Given the description of an element on the screen output the (x, y) to click on. 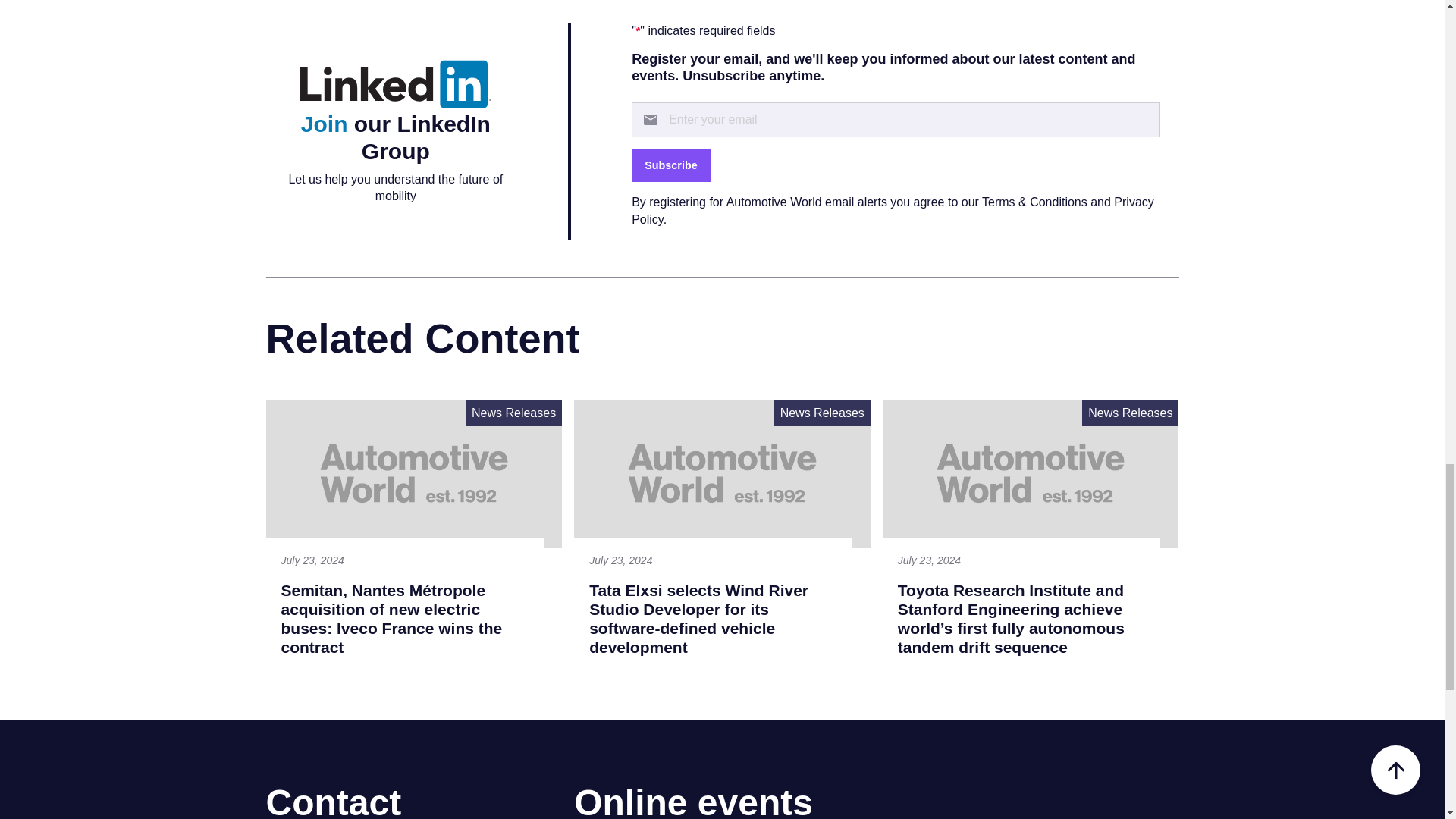
Subscribe (670, 165)
